Given the description of an element on the screen output the (x, y) to click on. 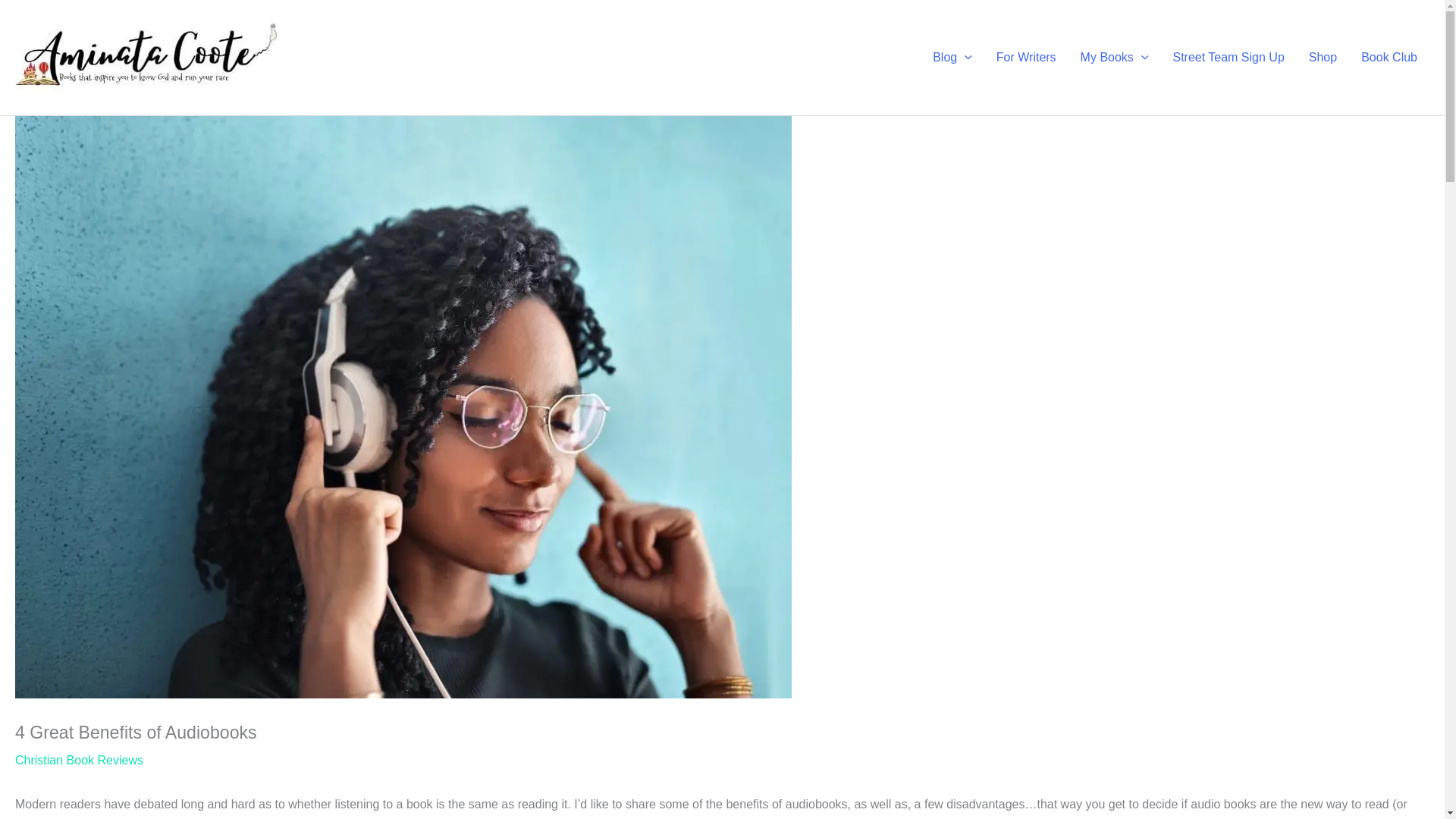
For Writers (1026, 57)
Street Team Sign Up (1227, 57)
Book Club (1389, 57)
Blog (952, 57)
My Books (1114, 57)
Shop (1323, 57)
